Given the description of an element on the screen output the (x, y) to click on. 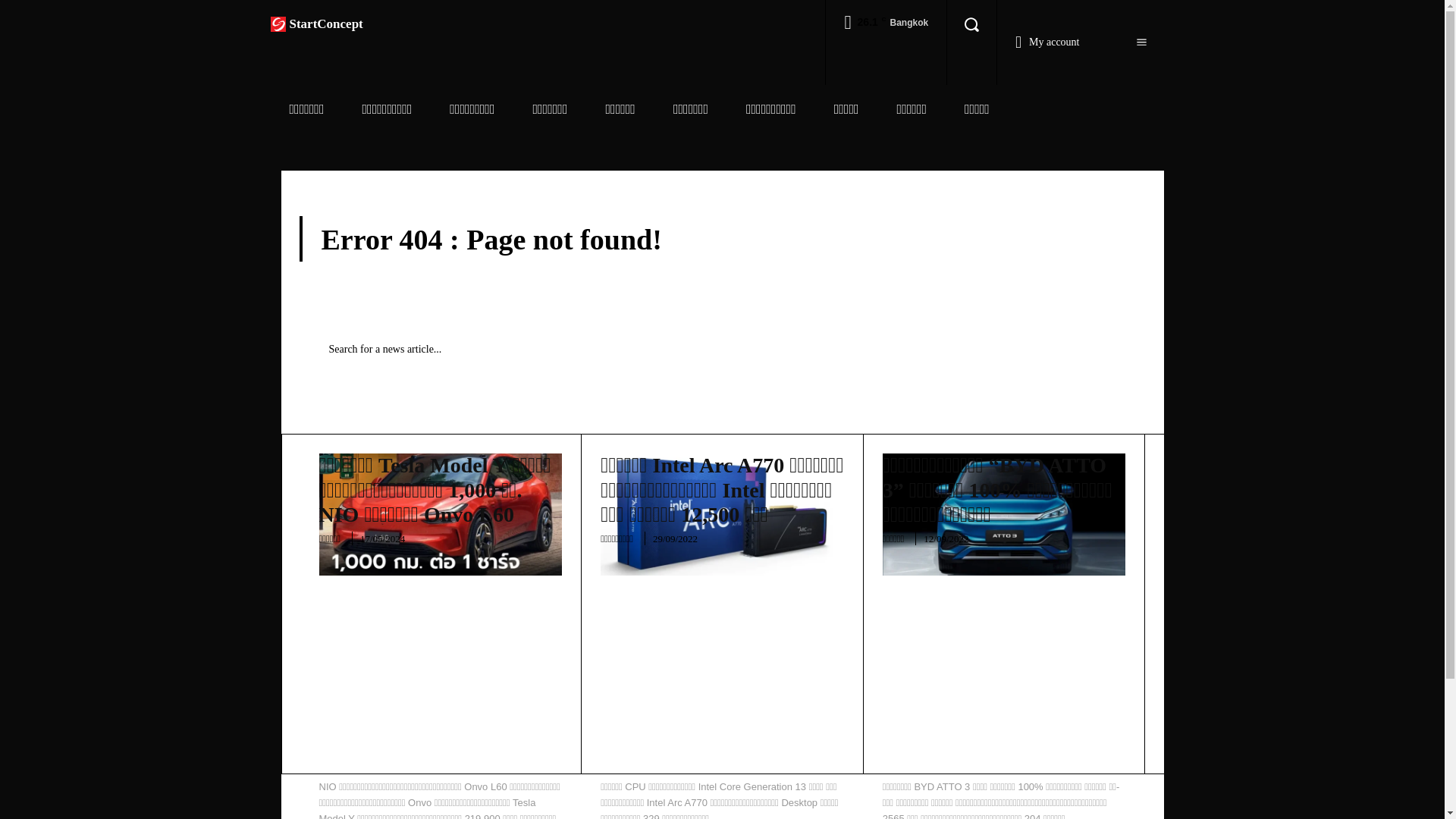
StartConcept (315, 24)
SEARCH (1092, 349)
